Given the description of an element on the screen output the (x, y) to click on. 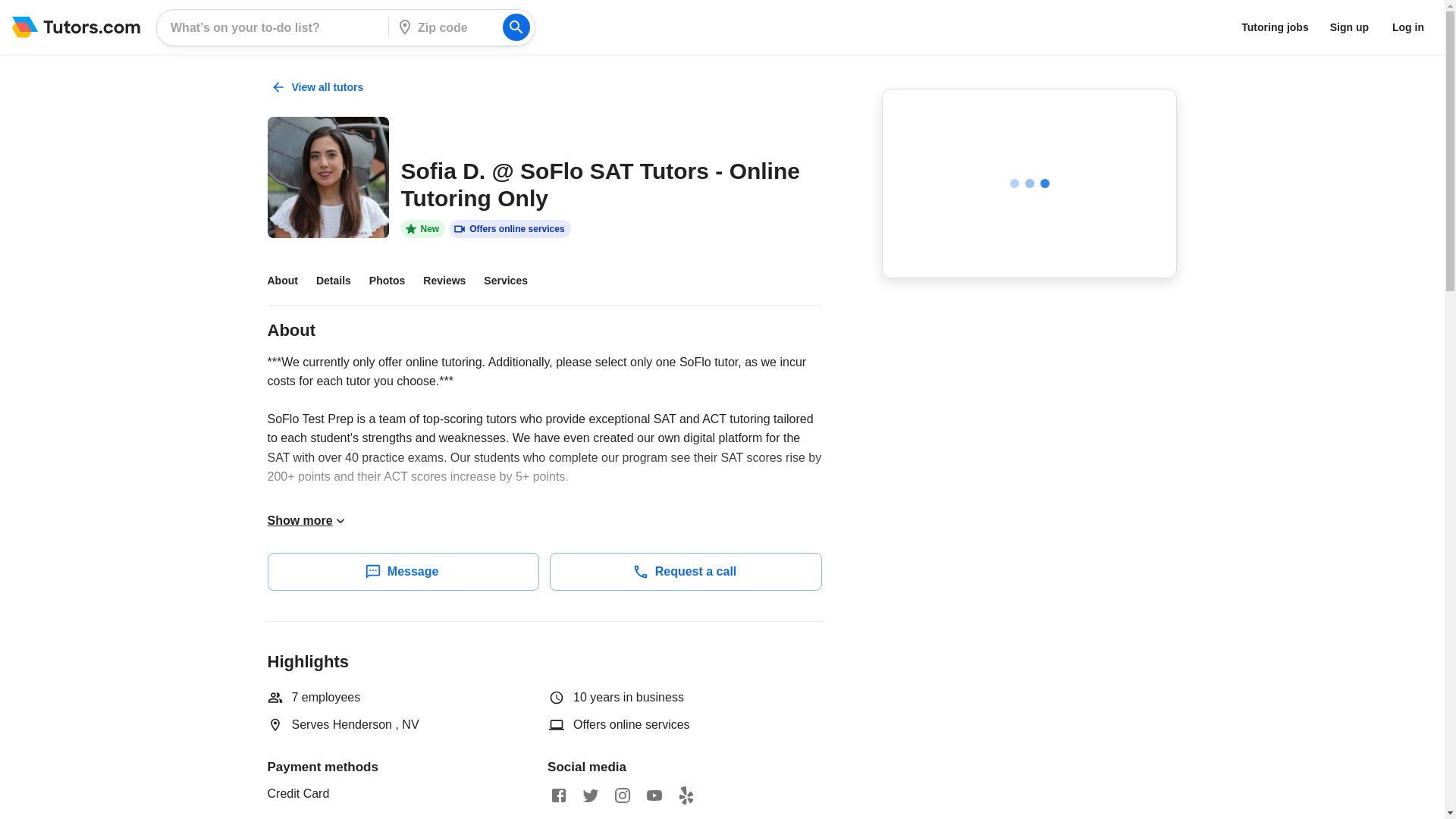
Reviews (453, 280)
Tutoring jobs (1274, 27)
Show more (306, 519)
View all tutors (317, 87)
View all tutors (317, 85)
Sign up (1348, 27)
Services (514, 280)
Details (342, 280)
Photos (396, 280)
Connect with this tutor face-to-face over online video. (509, 229)
